Given the description of an element on the screen output the (x, y) to click on. 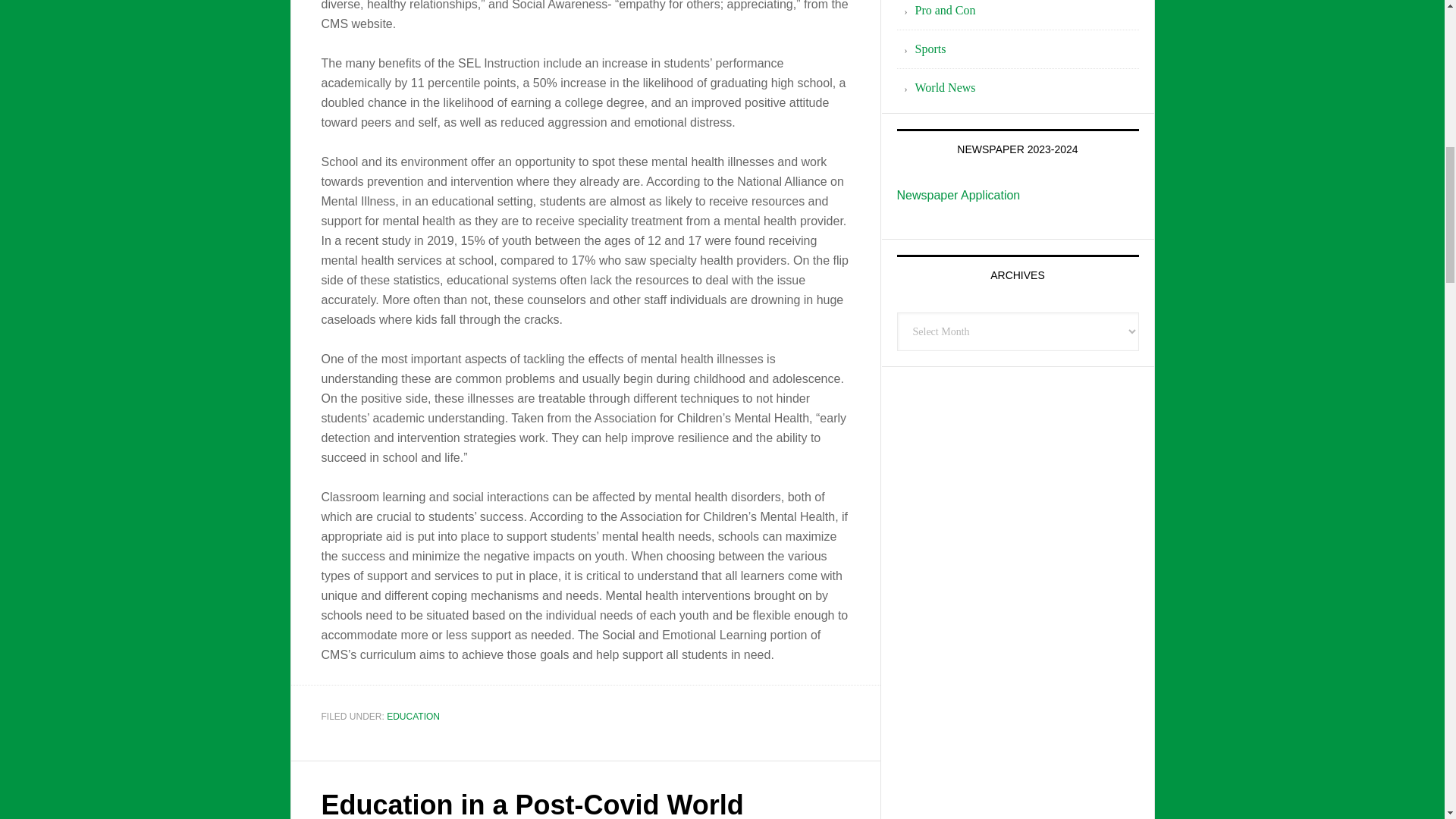
EDUCATION (413, 716)
World News (944, 87)
Education in a Post-Covid World (532, 804)
Pro and Con (944, 10)
Newspaper Application (958, 195)
Sports (929, 48)
